Given the description of an element on the screen output the (x, y) to click on. 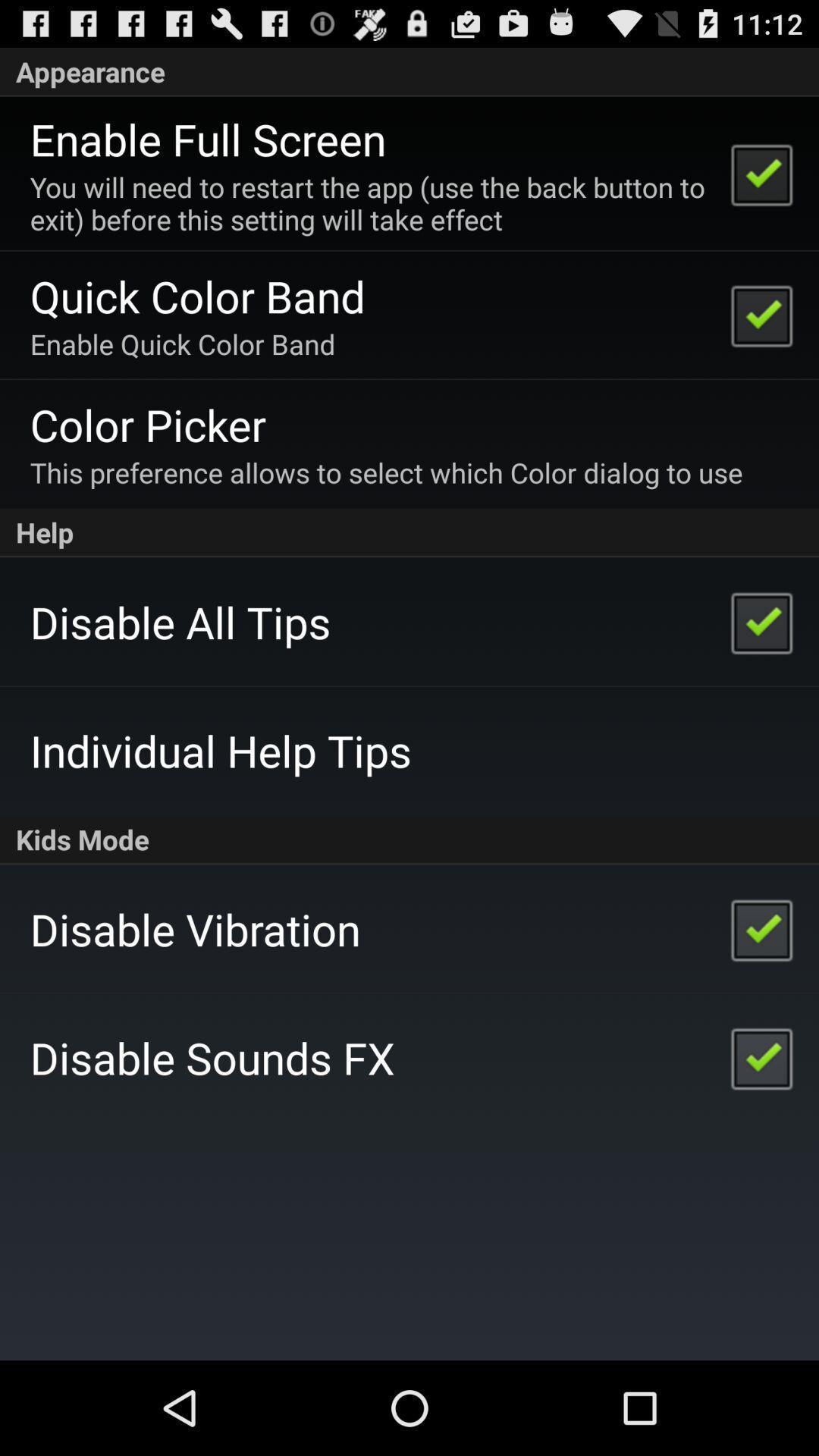
click color picker app (148, 424)
